Given the description of an element on the screen output the (x, y) to click on. 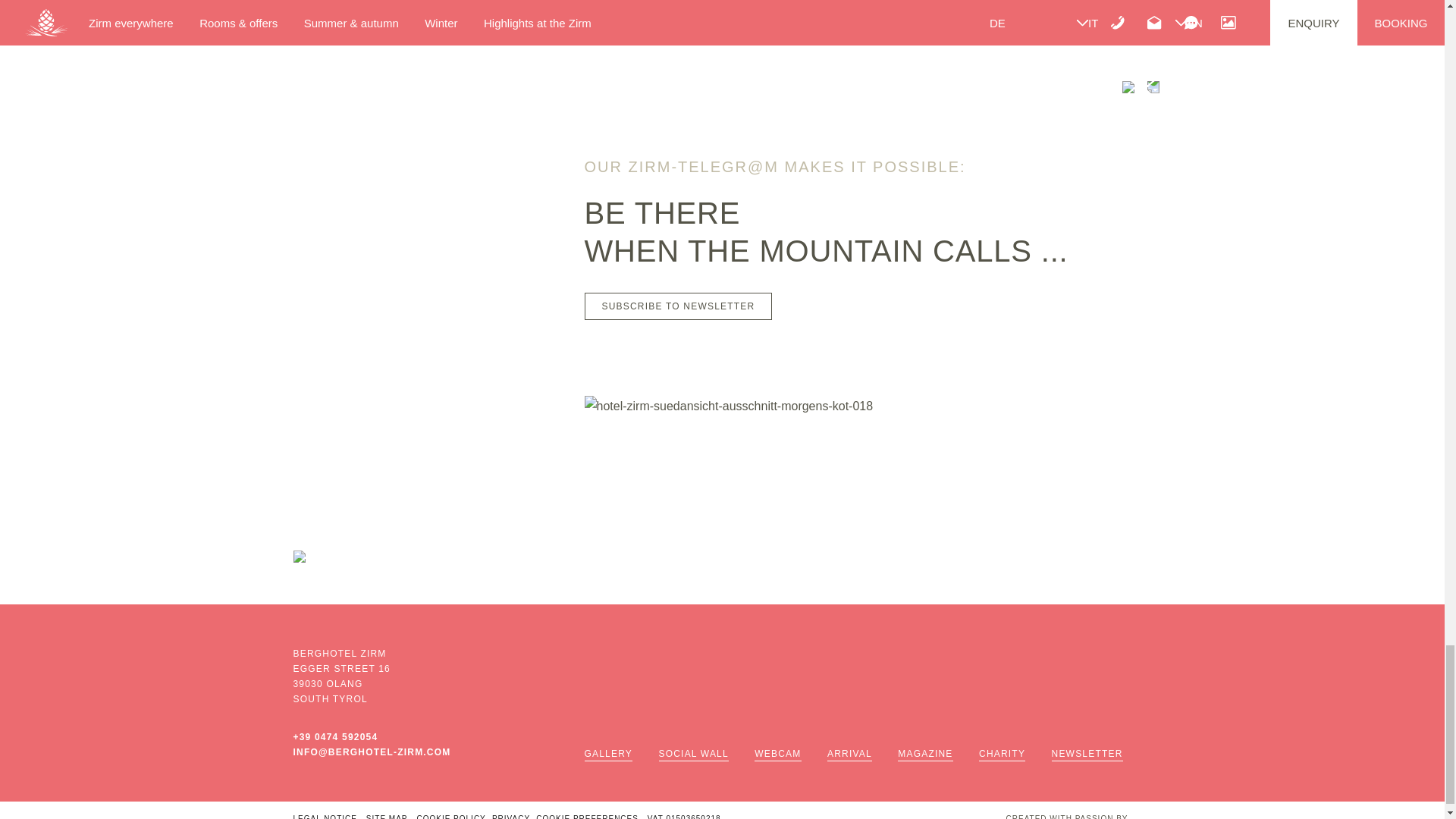
consisto.it - Web agency South Tyrol (1078, 812)
Subscribe to newsletter (677, 306)
Berghotel Zirm (298, 556)
